Given the description of an element on the screen output the (x, y) to click on. 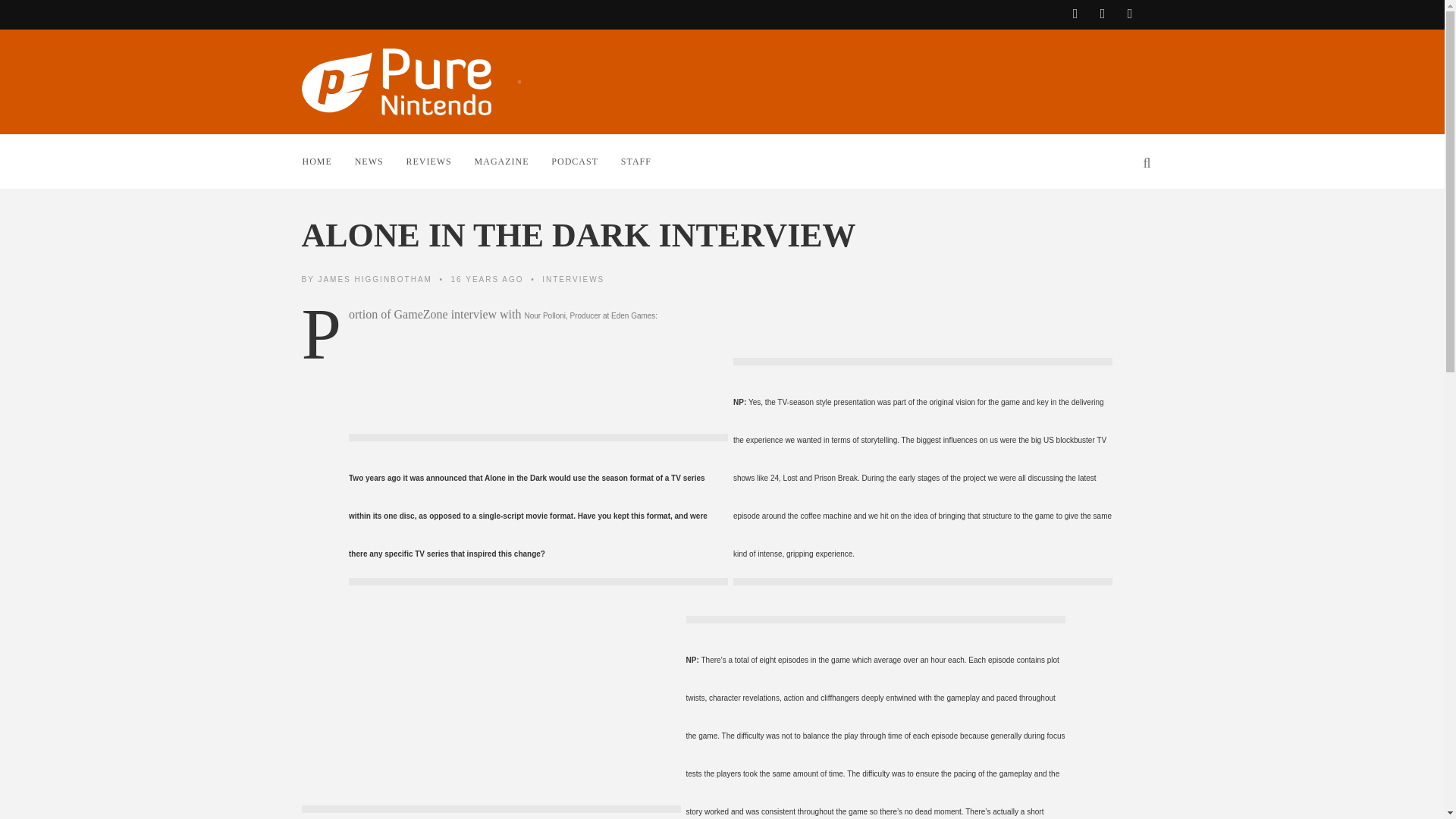
REVIEWS (439, 160)
STAFF (646, 160)
More Interviews Posts (572, 278)
HOME (327, 160)
JAMES HIGGINBOTHAM (373, 278)
MAGAZINE (512, 160)
Posts by James Higginbotham (373, 278)
INTERVIEWS (572, 278)
NEWS (380, 160)
PODCAST (585, 160)
